Given the description of an element on the screen output the (x, y) to click on. 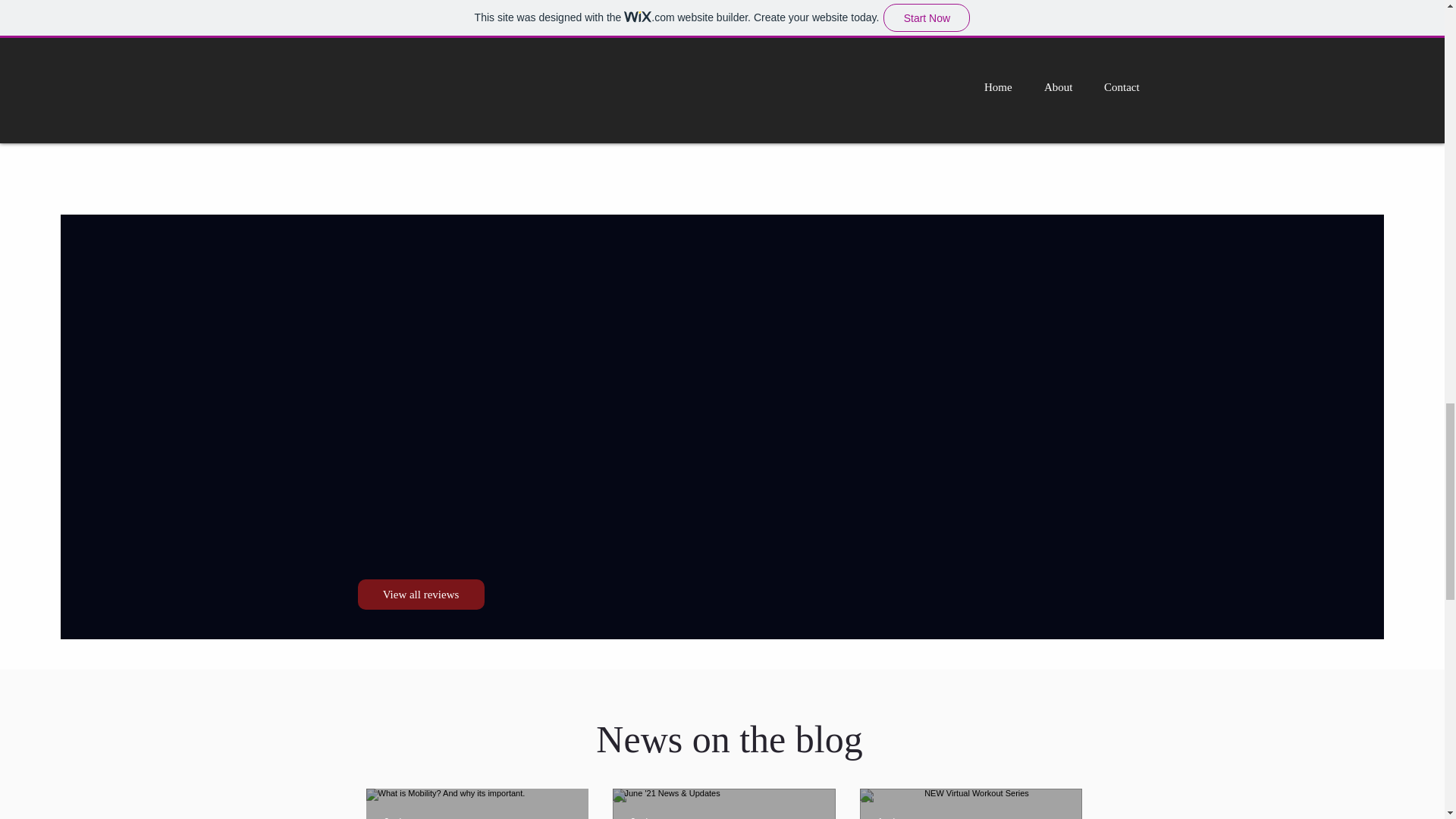
3 min (395, 817)
View all reviews (421, 594)
1 min (888, 817)
3 min (641, 817)
